Given the description of an element on the screen output the (x, y) to click on. 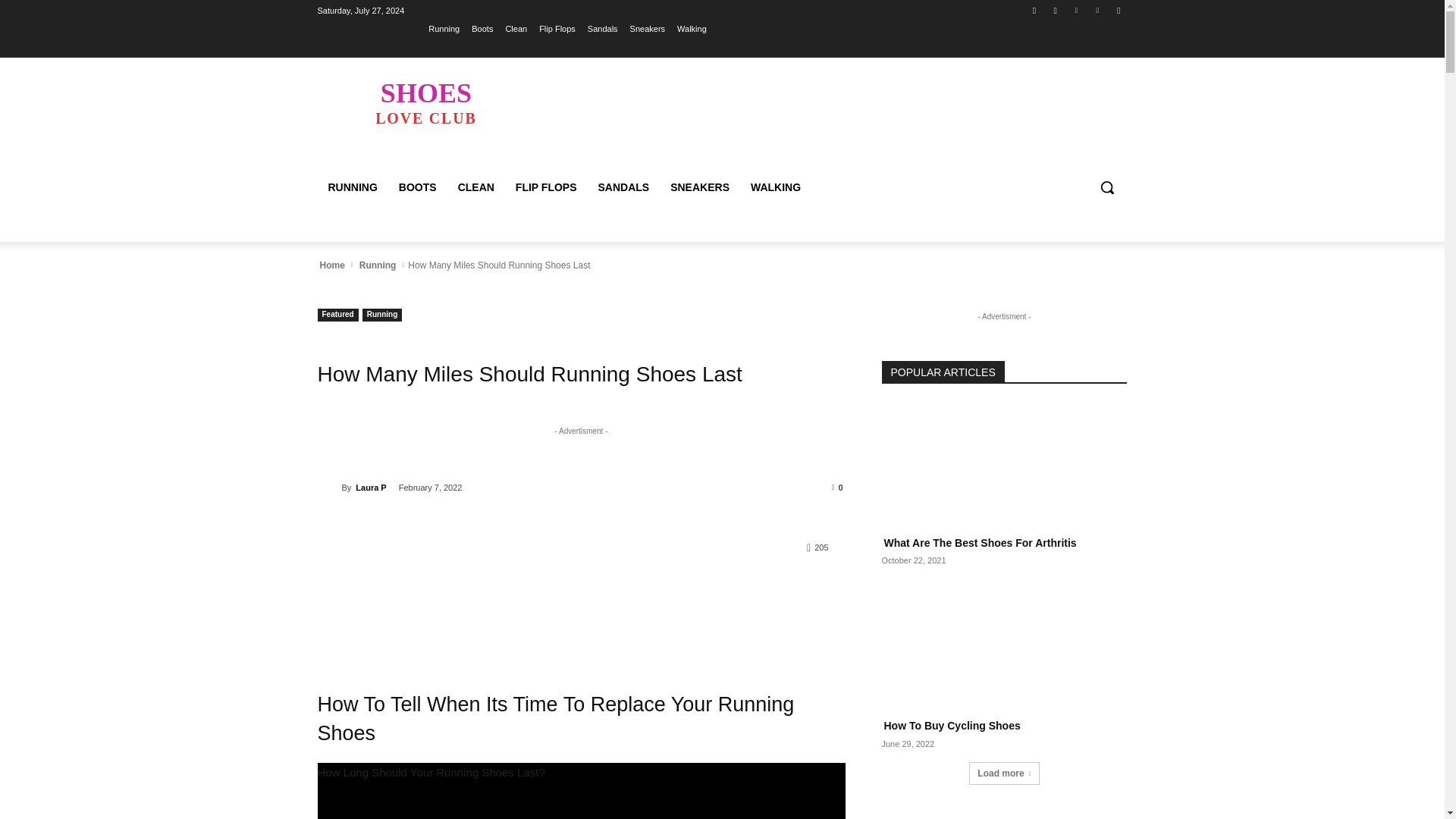
Running (382, 314)
Boots (482, 28)
Twitter (1075, 9)
FLIP FLOPS (546, 186)
RUNNING (352, 186)
BOOTS (417, 186)
Running (377, 264)
SNEAKERS (699, 186)
Clean (425, 102)
